Given the description of an element on the screen output the (x, y) to click on. 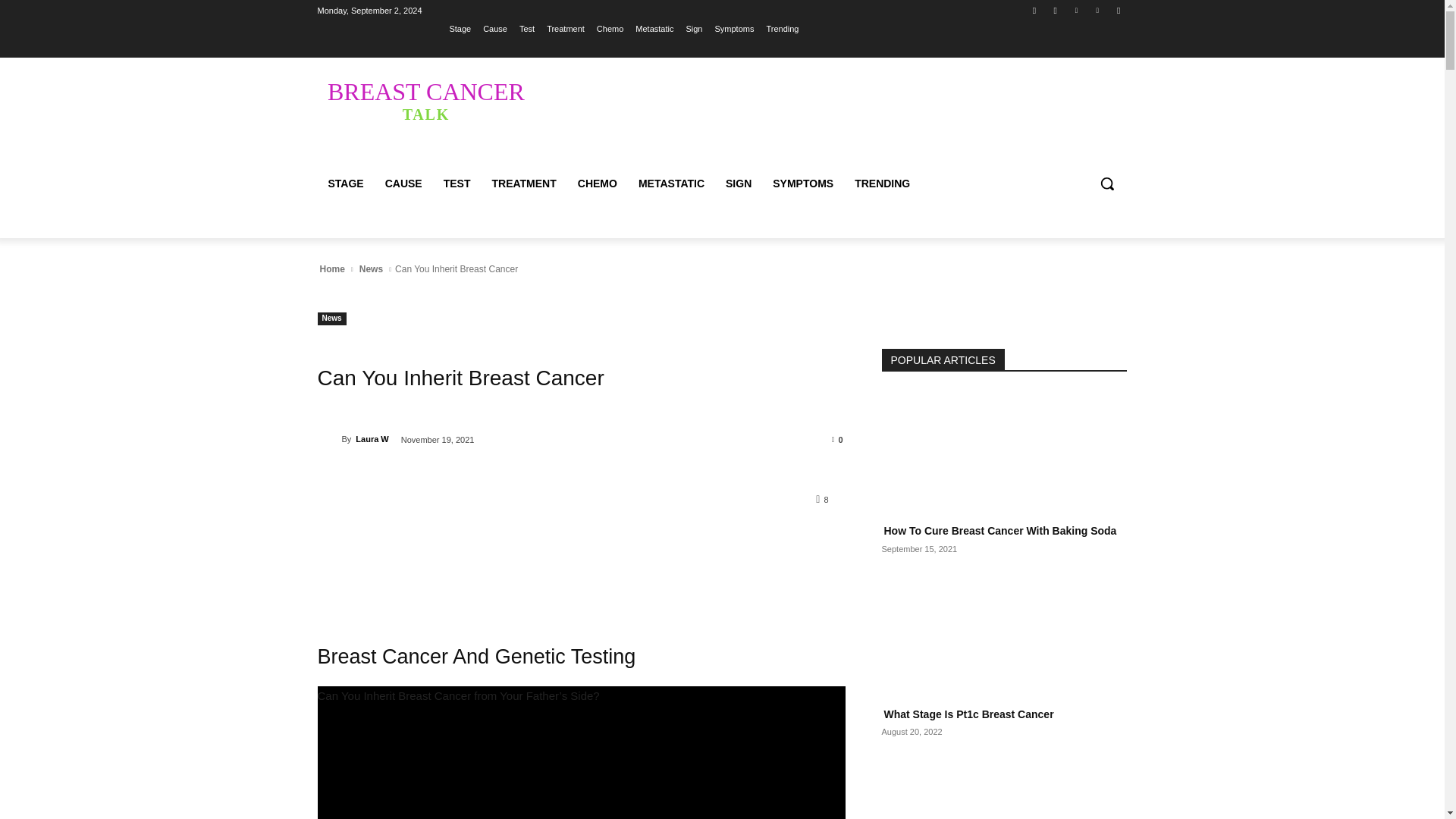
STAGE (345, 183)
Facebook (1034, 9)
Vimeo (1097, 9)
Instagram (1055, 9)
Stage (459, 28)
Treatment (566, 28)
Laura W (328, 438)
Metastatic (653, 28)
Symptoms (734, 28)
CHEMO (597, 183)
